Given the description of an element on the screen output the (x, y) to click on. 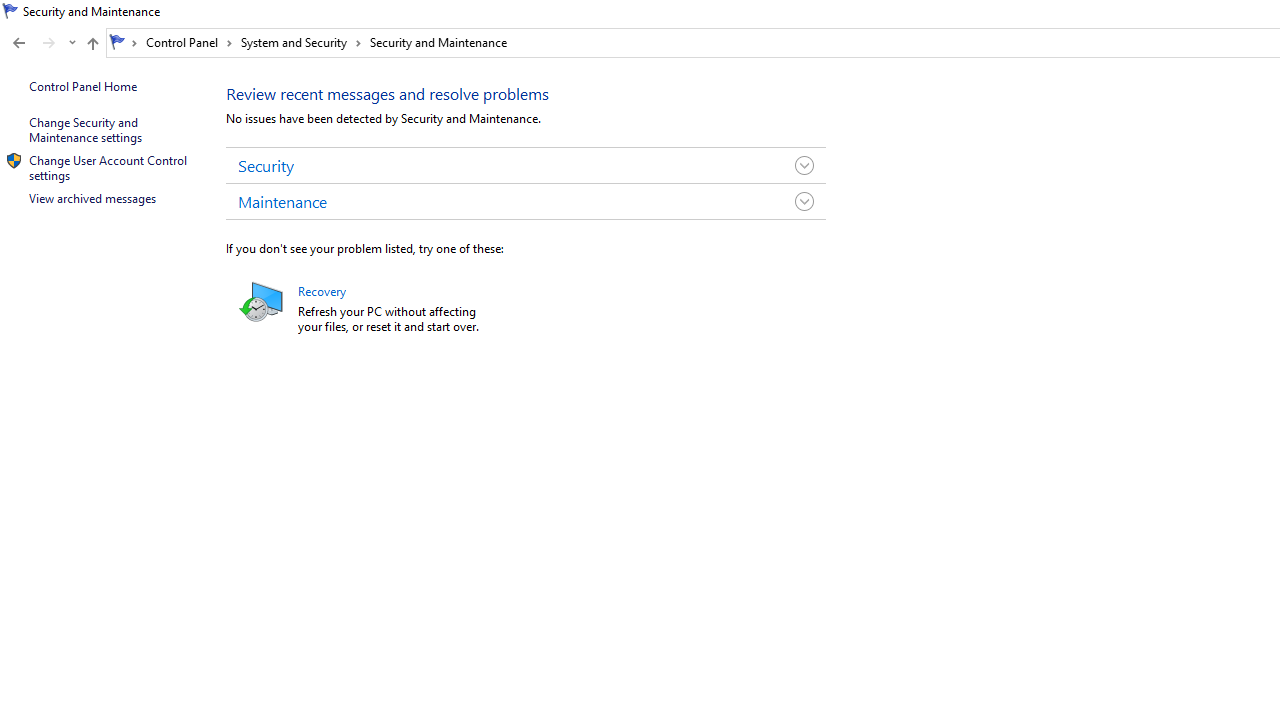
Recovery (321, 290)
System and Security (301, 42)
Toggle Security Group (804, 164)
Navigation buttons (41, 43)
Control Panel (189, 42)
Control Panel Home (82, 86)
Security and Maintenance (438, 42)
System (10, 11)
Toggle Maintenance Group (804, 200)
Up band toolbar (92, 46)
Icon (13, 160)
Change User Account Control settings (109, 167)
Recent locations (71, 43)
Maintenance (525, 200)
Up to "System and Security" (Alt + Up Arrow) (92, 43)
